Given the description of an element on the screen output the (x, y) to click on. 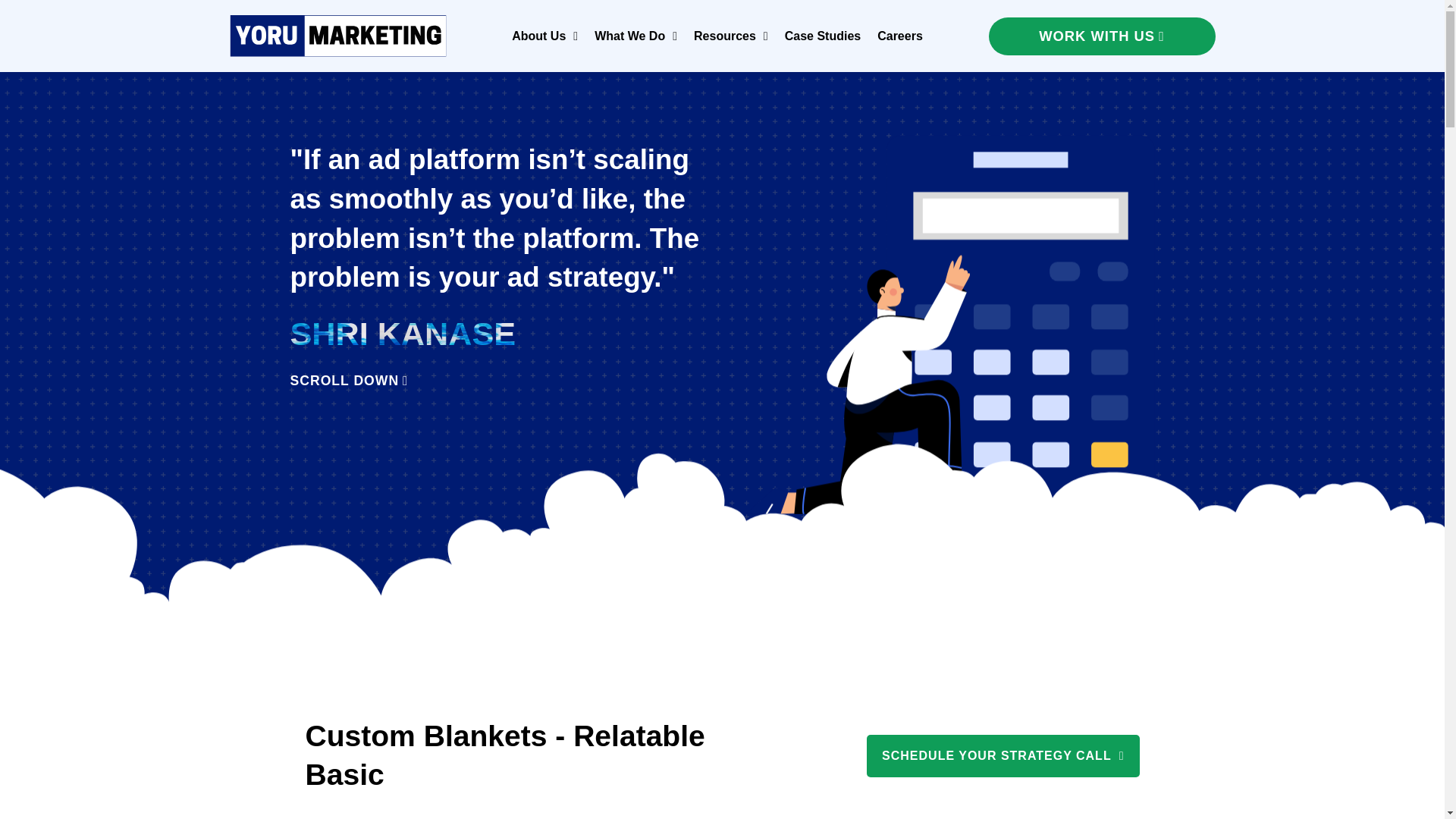
Case Studies (822, 36)
Careers (900, 36)
What We Do (635, 36)
Resources (730, 36)
About Us (544, 36)
